Given the description of an element on the screen output the (x, y) to click on. 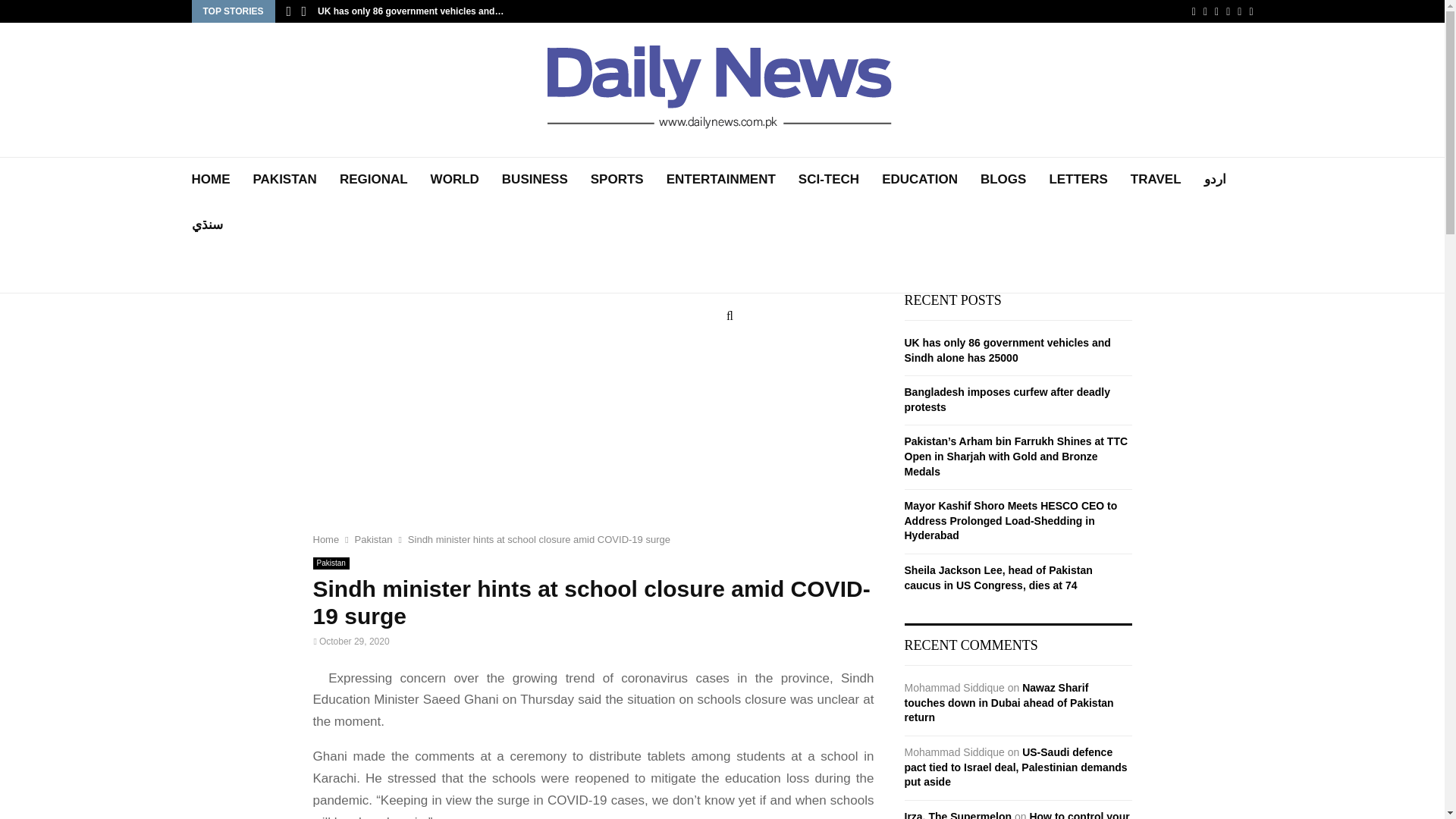
Facebook (1193, 11)
BLOGS (1002, 179)
ENTERTAINMENT (721, 179)
Rss (1239, 11)
EDUCATION (920, 179)
Facebook (1193, 11)
PAKISTAN (285, 179)
Linkedin (1216, 11)
Youtube (1227, 11)
Youtube (1227, 11)
Linkedin (1216, 11)
SCI-TECH (828, 179)
WORLD (454, 179)
Twitter (1205, 11)
SPORTS (617, 179)
